Given the description of an element on the screen output the (x, y) to click on. 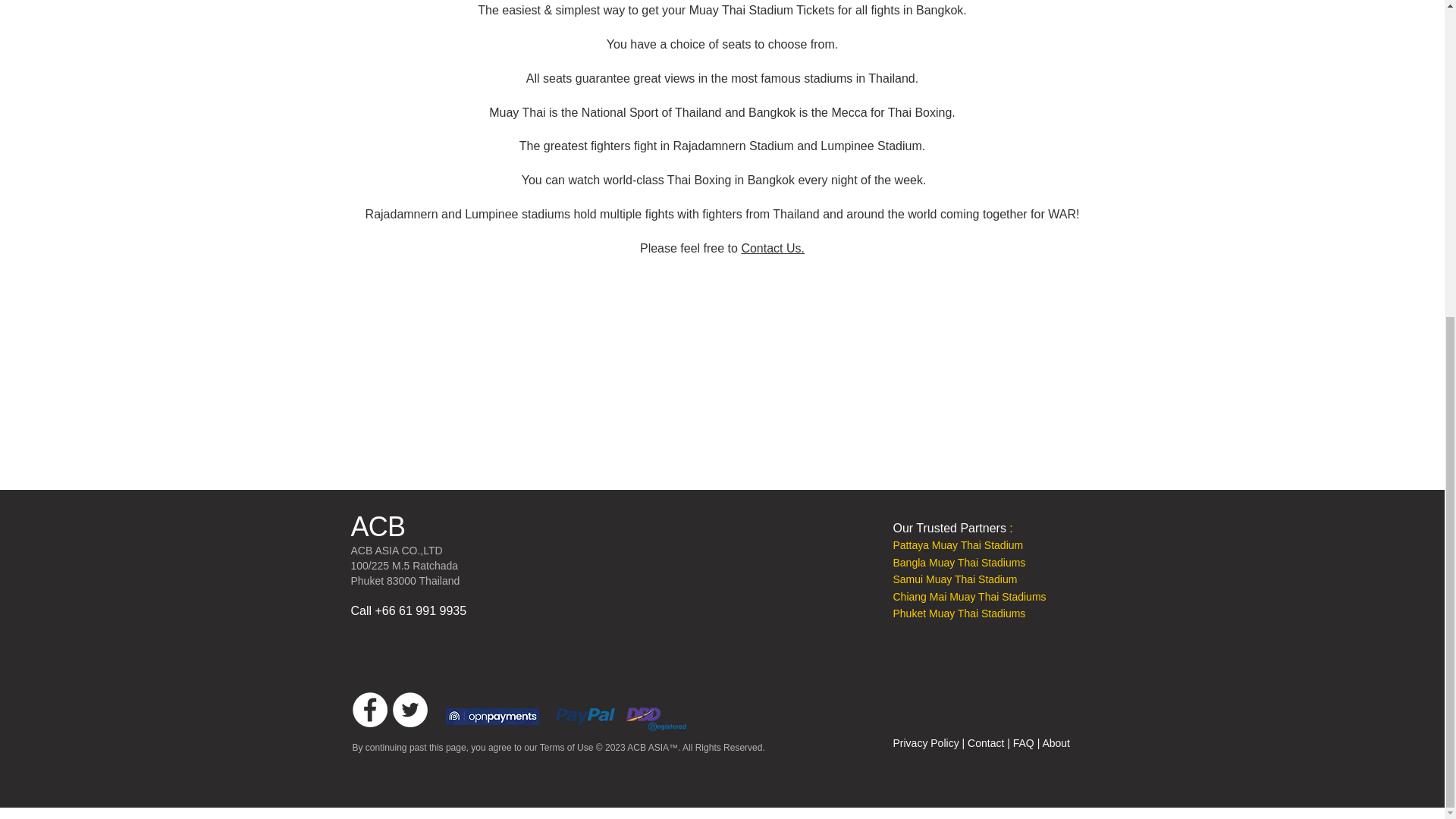
Contact Us. (773, 247)
Pattaya Muay Thai Stadium (958, 544)
Contact (987, 743)
Samui Muay Thai Stadium (955, 579)
Chiang Mai Muay Thai Stadiums (969, 596)
About (1056, 743)
Privacy Policy (926, 743)
Phuket Muay Thai Stadiums (959, 613)
Bangla Muay Thai Stadiums (959, 562)
 FAQ (1023, 743)
